Given the description of an element on the screen output the (x, y) to click on. 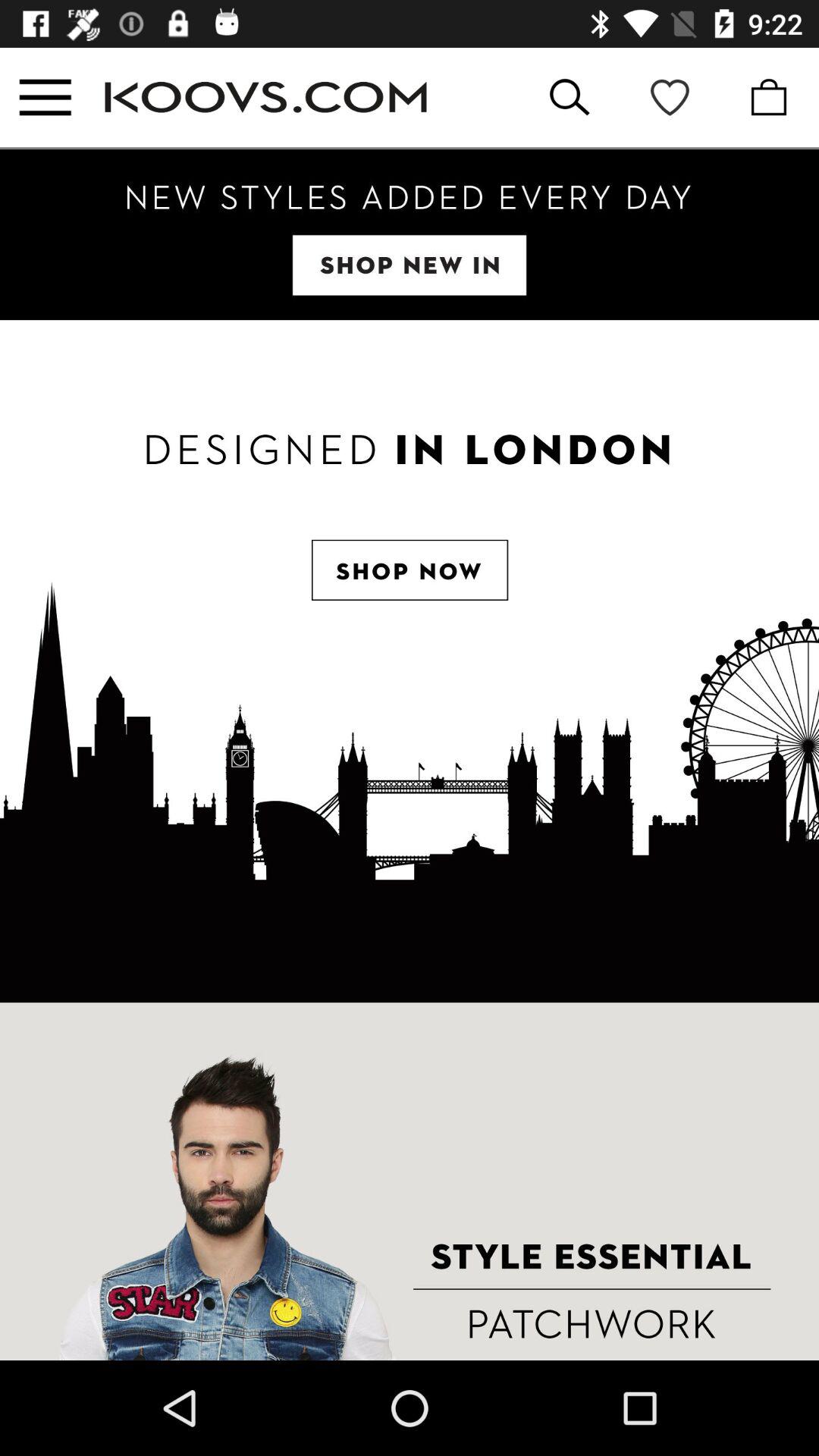
turn off the item at the center (409, 661)
